Given the description of an element on the screen output the (x, y) to click on. 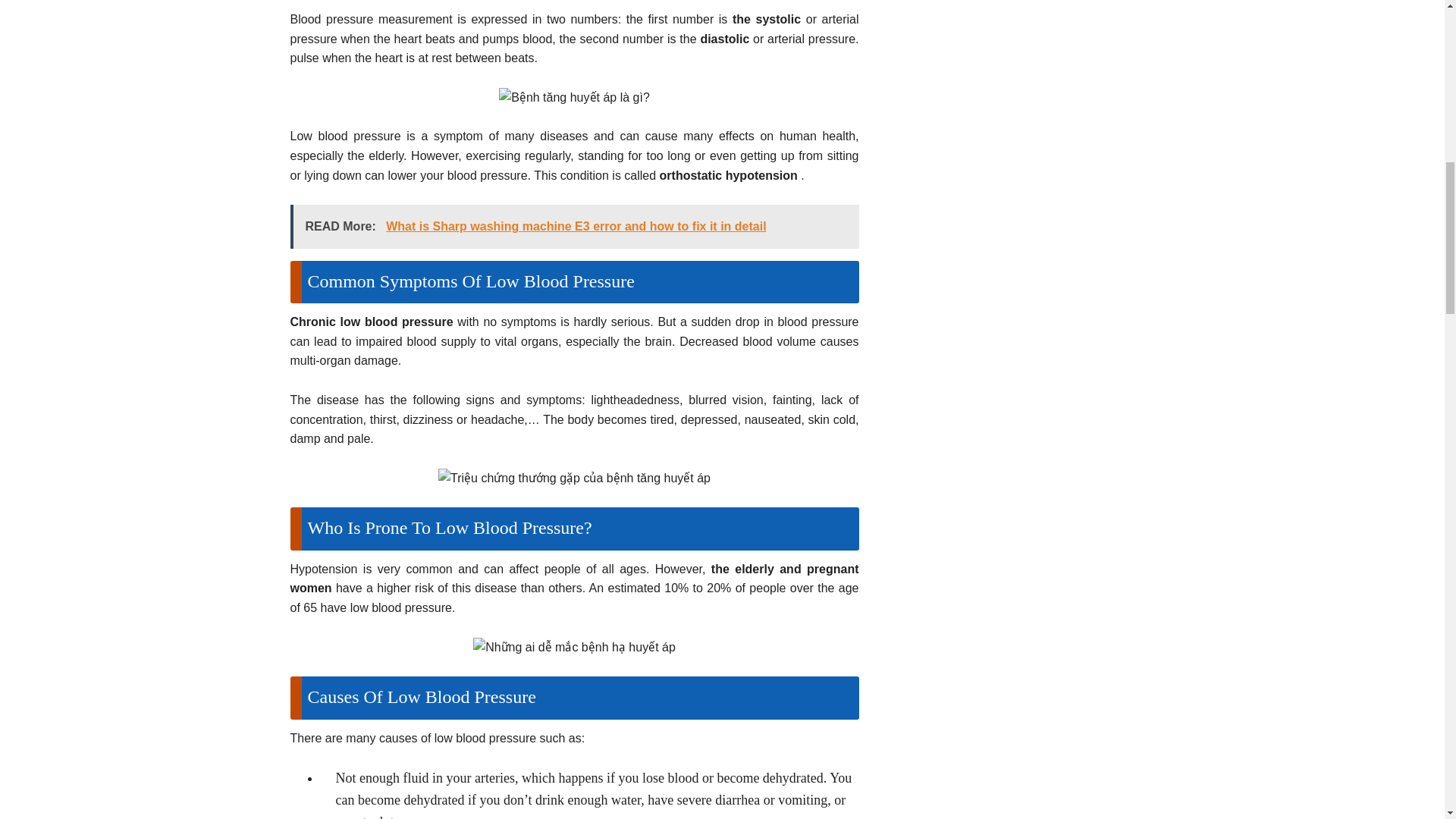
What is high blood pressure? (574, 97)
Who is prone to low blood pressure? (574, 647)
Common symptoms of high blood pressure (574, 478)
